Given the description of an element on the screen output the (x, y) to click on. 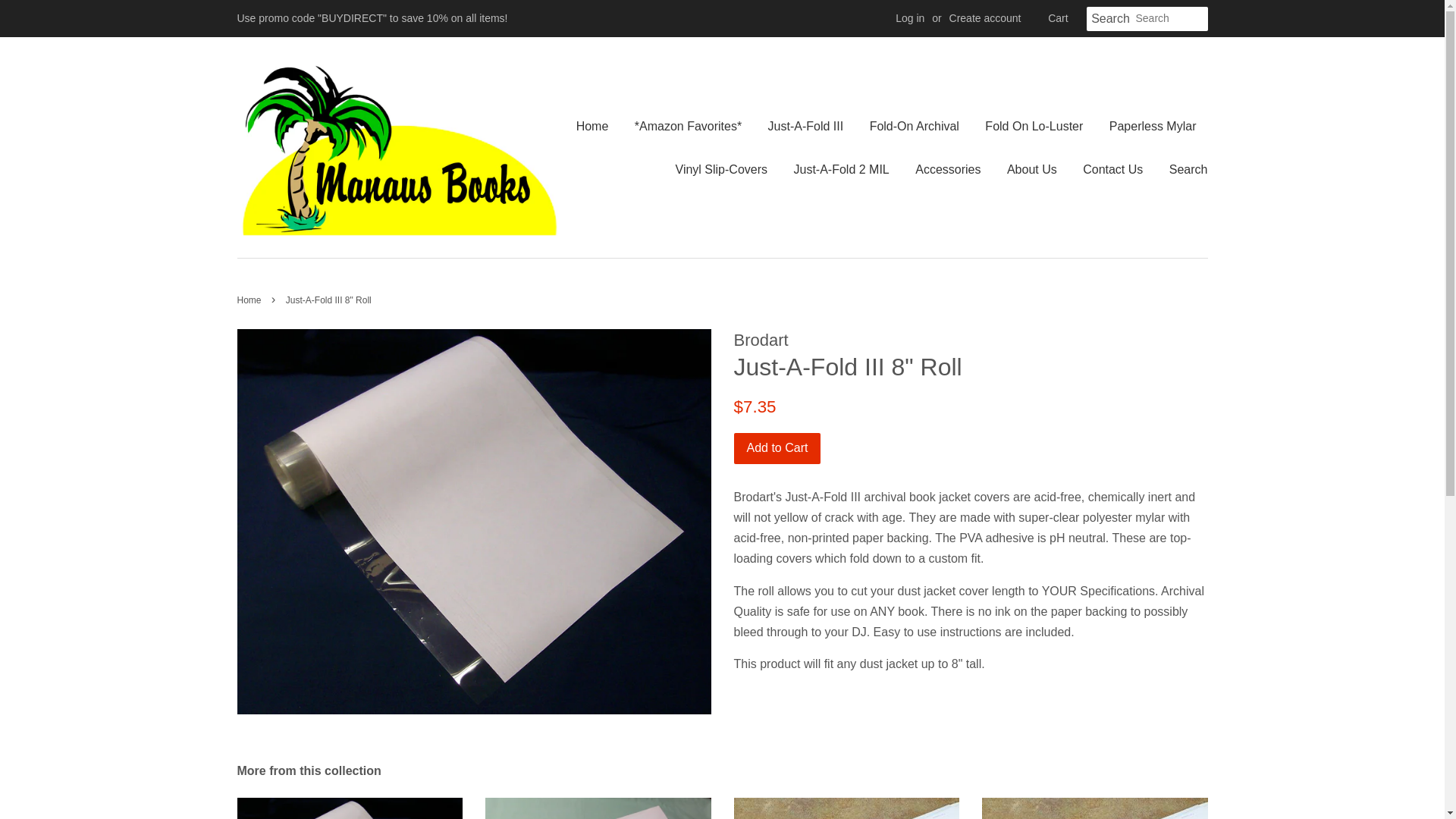
Search (1110, 18)
About Us (1031, 169)
Add to Cart (777, 448)
Cart (1057, 18)
Just-A-Fold III (806, 126)
Fold On Lo-Luster (1034, 126)
Search (1182, 169)
Log in (909, 18)
Create account (985, 18)
Home (249, 299)
Contact Us (1112, 169)
Accessories (947, 169)
Fold-On Archival (915, 126)
Back to the frontpage (249, 299)
Just-A-Fold 2 MIL (840, 169)
